Given the description of an element on the screen output the (x, y) to click on. 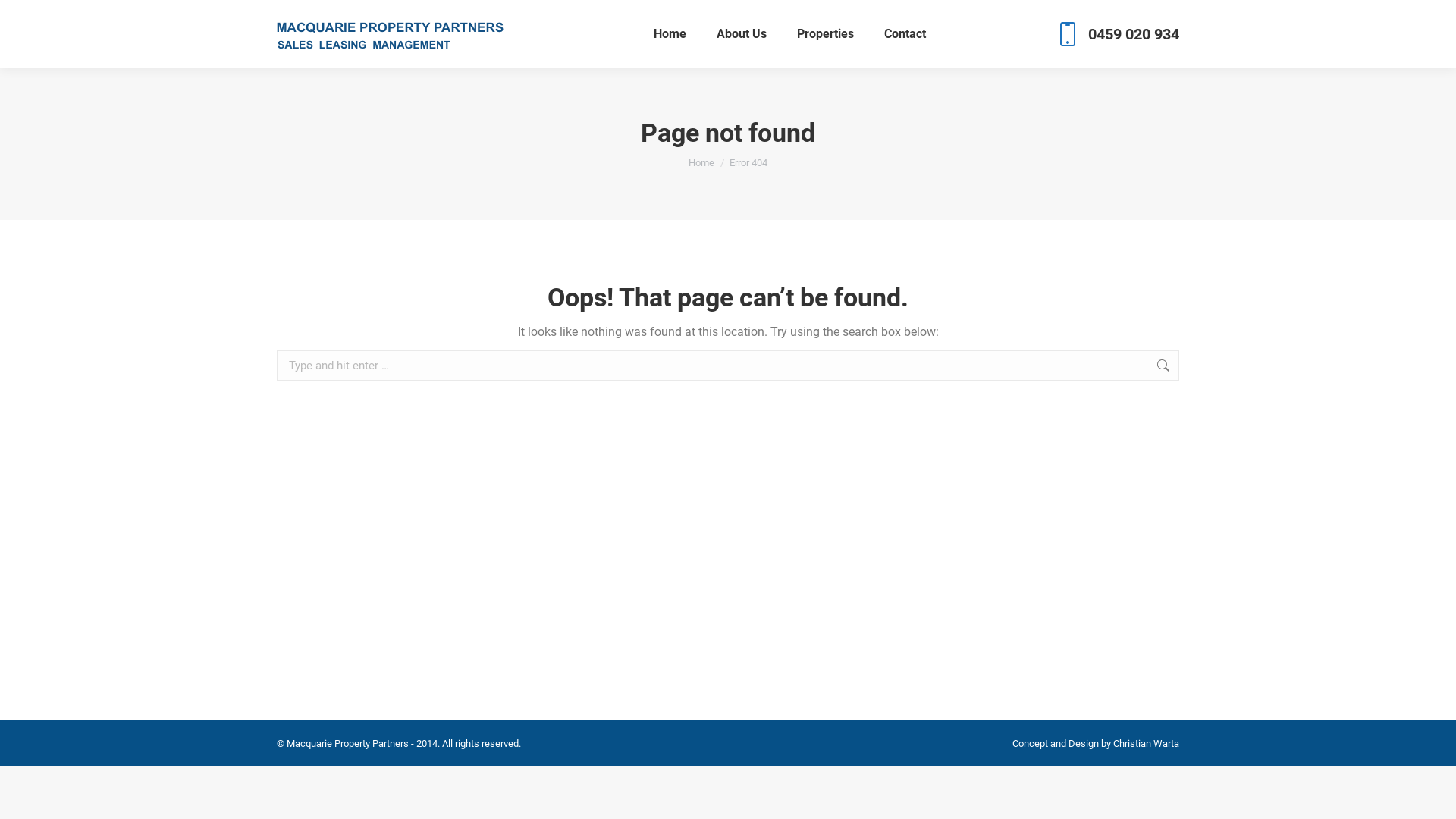
Properties Element type: text (825, 33)
Home Element type: text (669, 33)
Christian Warta Element type: text (1146, 742)
Contact Element type: text (904, 33)
Go! Element type: text (1207, 374)
About Us Element type: text (741, 33)
Home Element type: text (701, 162)
